Given the description of an element on the screen output the (x, y) to click on. 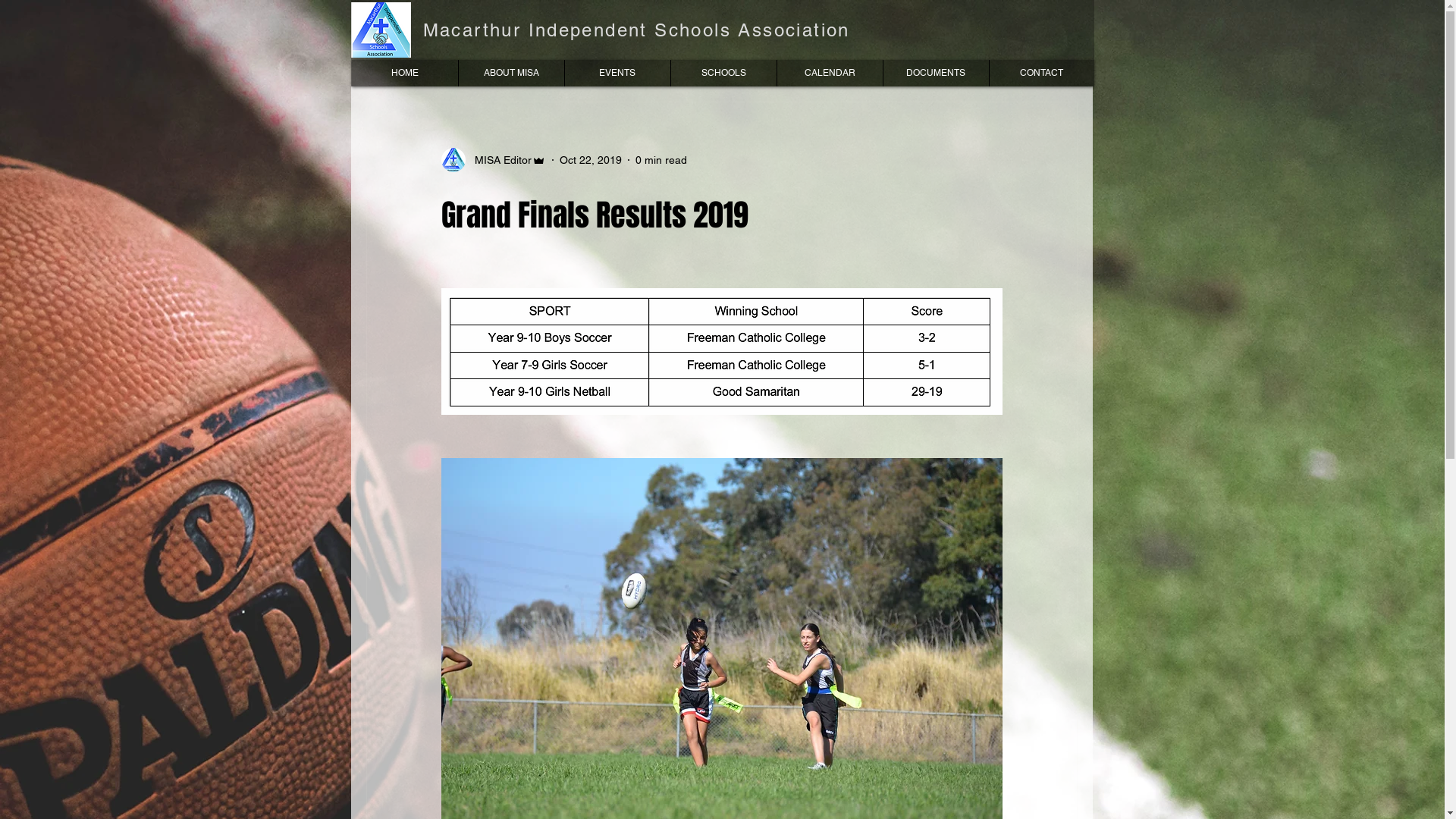
ABOUT MISA Element type: text (511, 72)
DOCUMENTS Element type: text (935, 72)
Back to Top Element type: hover (1424, 409)
MISA Editor Element type: text (493, 159)
SCHOOLS Element type: text (723, 72)
CONTACT Element type: text (1041, 72)
CALENDAR Element type: text (829, 72)
HOME Element type: text (404, 72)
